Given the description of an element on the screen output the (x, y) to click on. 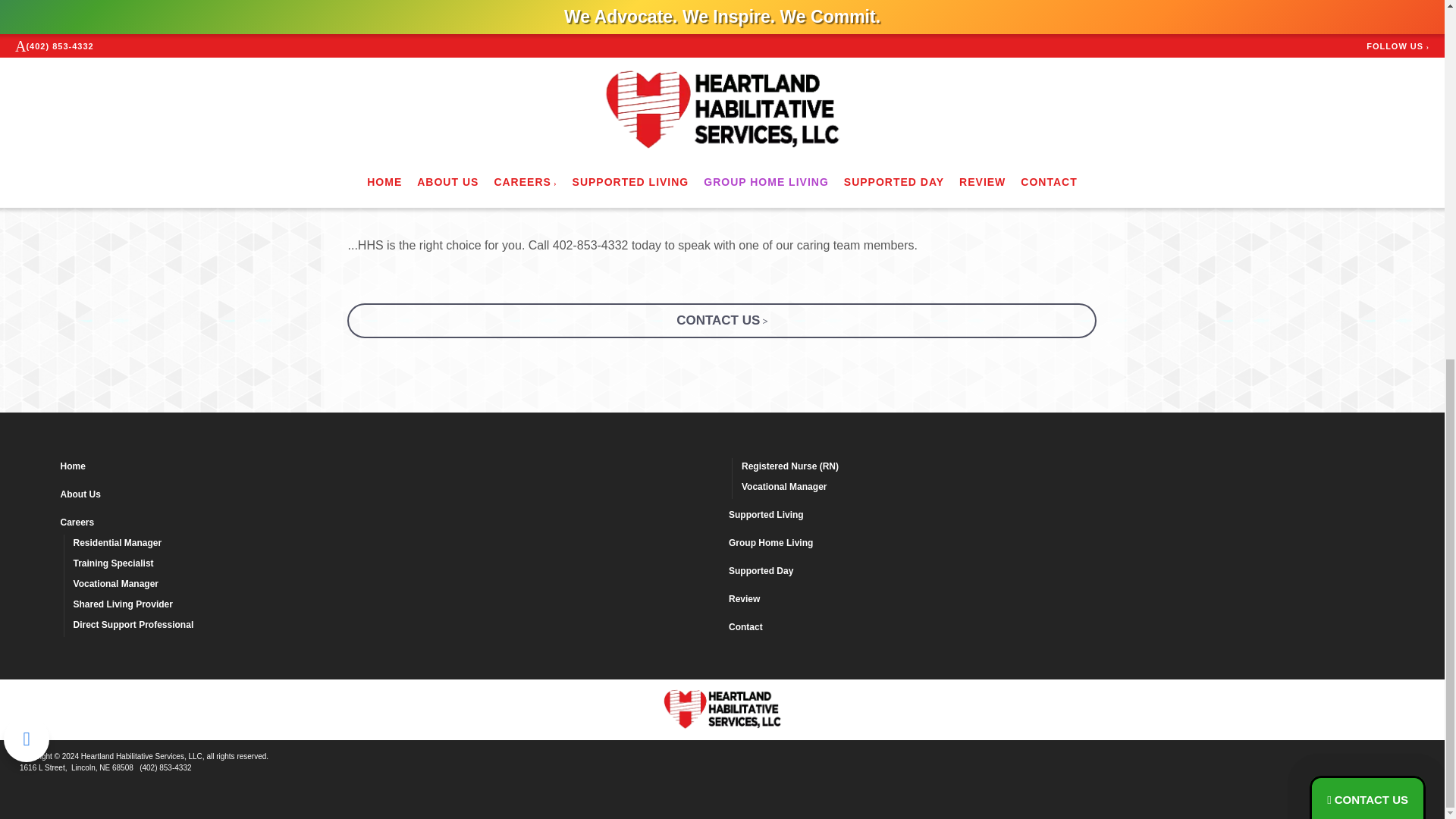
Direct Support Professional (394, 626)
Home (388, 467)
Group Home Living (1056, 544)
Residential Manager (394, 544)
About Us (388, 496)
Training Specialist (394, 565)
Vocational Manager (1062, 488)
Vocational Manager (394, 585)
Shared Living Provider (394, 606)
Supported Living (1056, 516)
CONTACT US (721, 320)
Heartland Habilitative Services, LLC (722, 709)
Careers (388, 524)
